Given the description of an element on the screen output the (x, y) to click on. 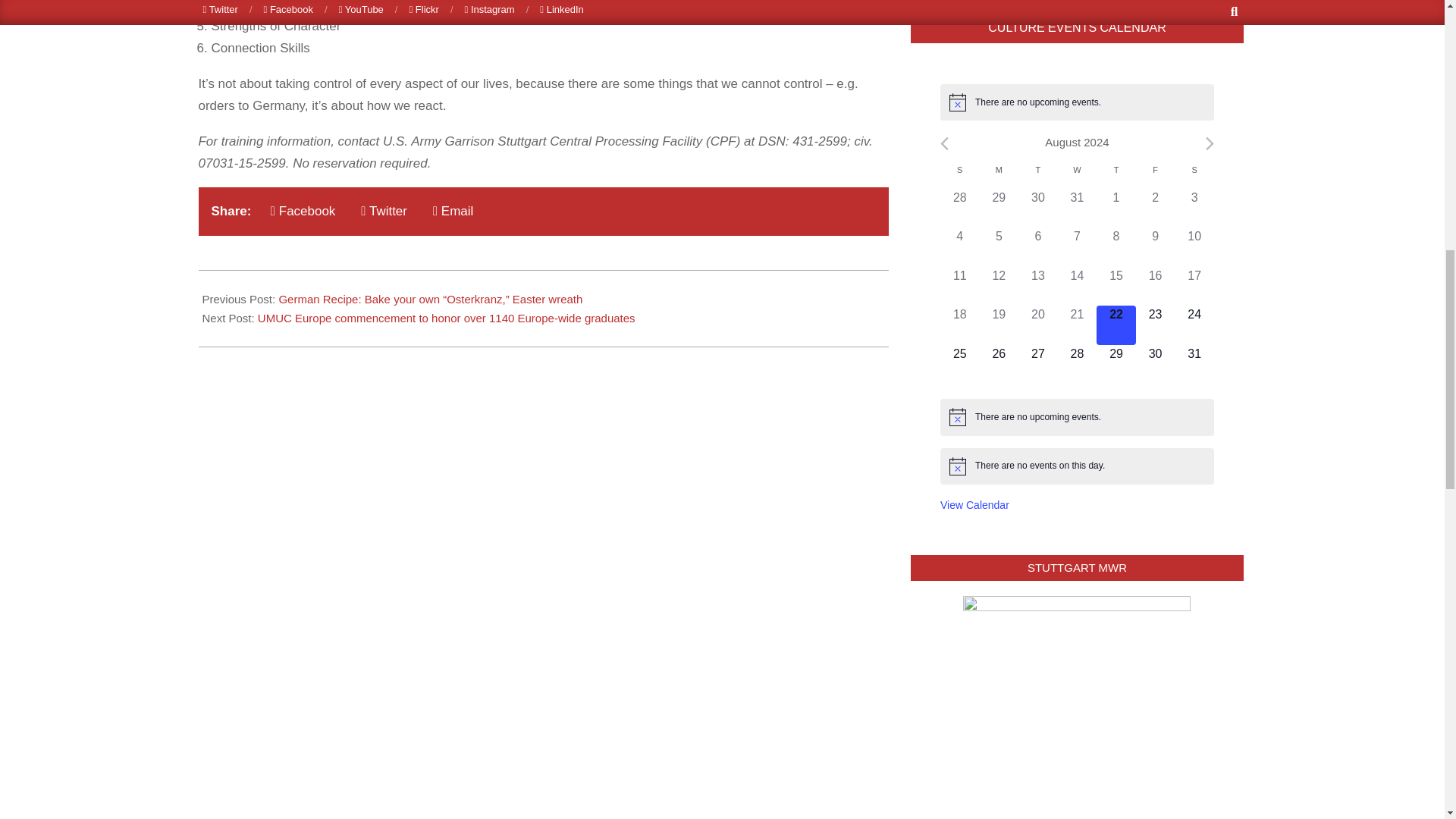
View more events. (974, 504)
Share on Twitter (384, 210)
Share on Facebook (302, 210)
Share via Email (452, 210)
